Given the description of an element on the screen output the (x, y) to click on. 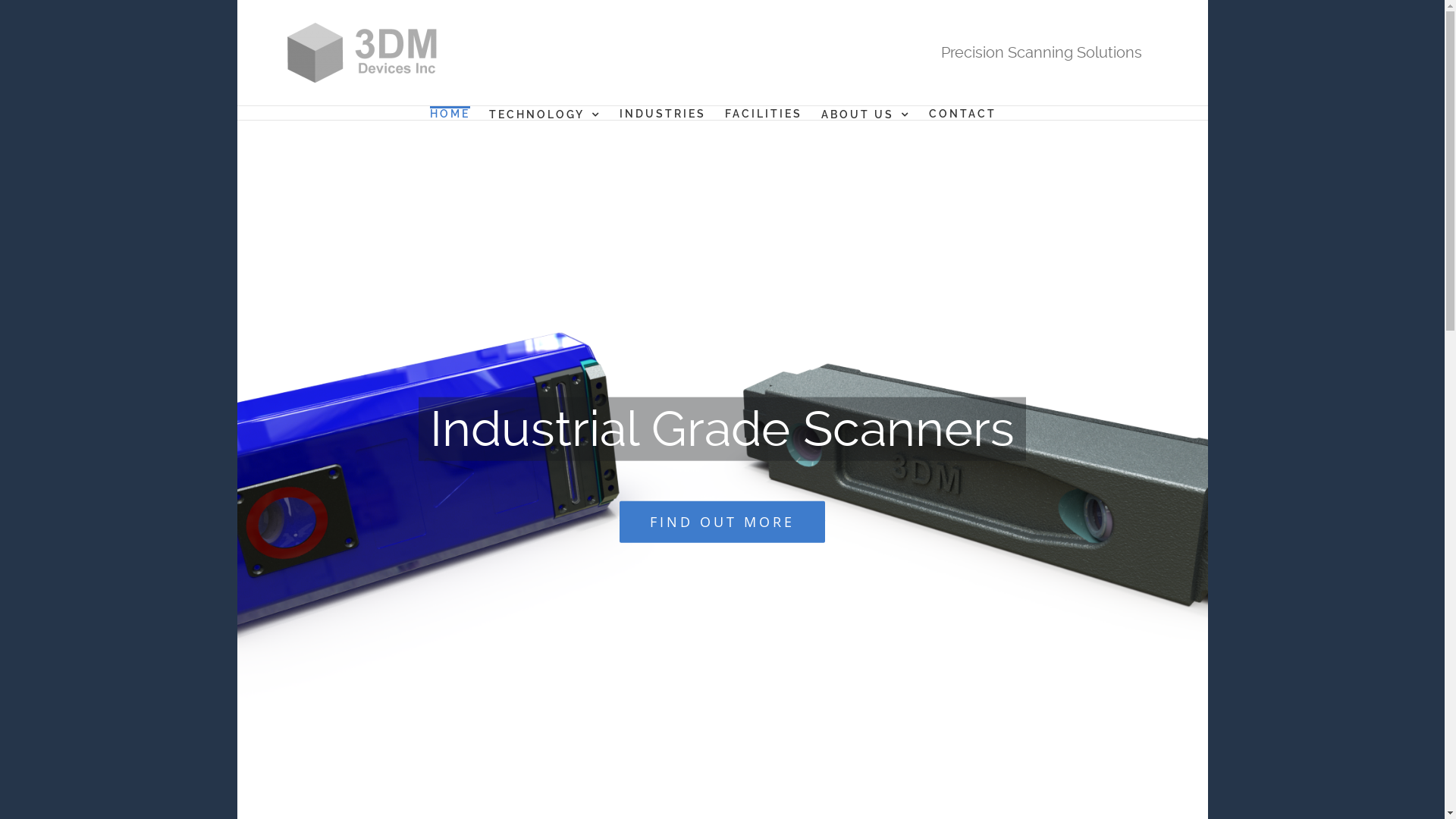
INDUSTRIES Element type: text (661, 112)
CONTACT Element type: text (961, 112)
FIND OUT MORE Element type: text (722, 521)
FACILITIES Element type: text (763, 112)
HOME Element type: text (449, 112)
ABOUT US Element type: text (864, 112)
TECHNOLOGY Element type: text (543, 112)
